Given the description of an element on the screen output the (x, y) to click on. 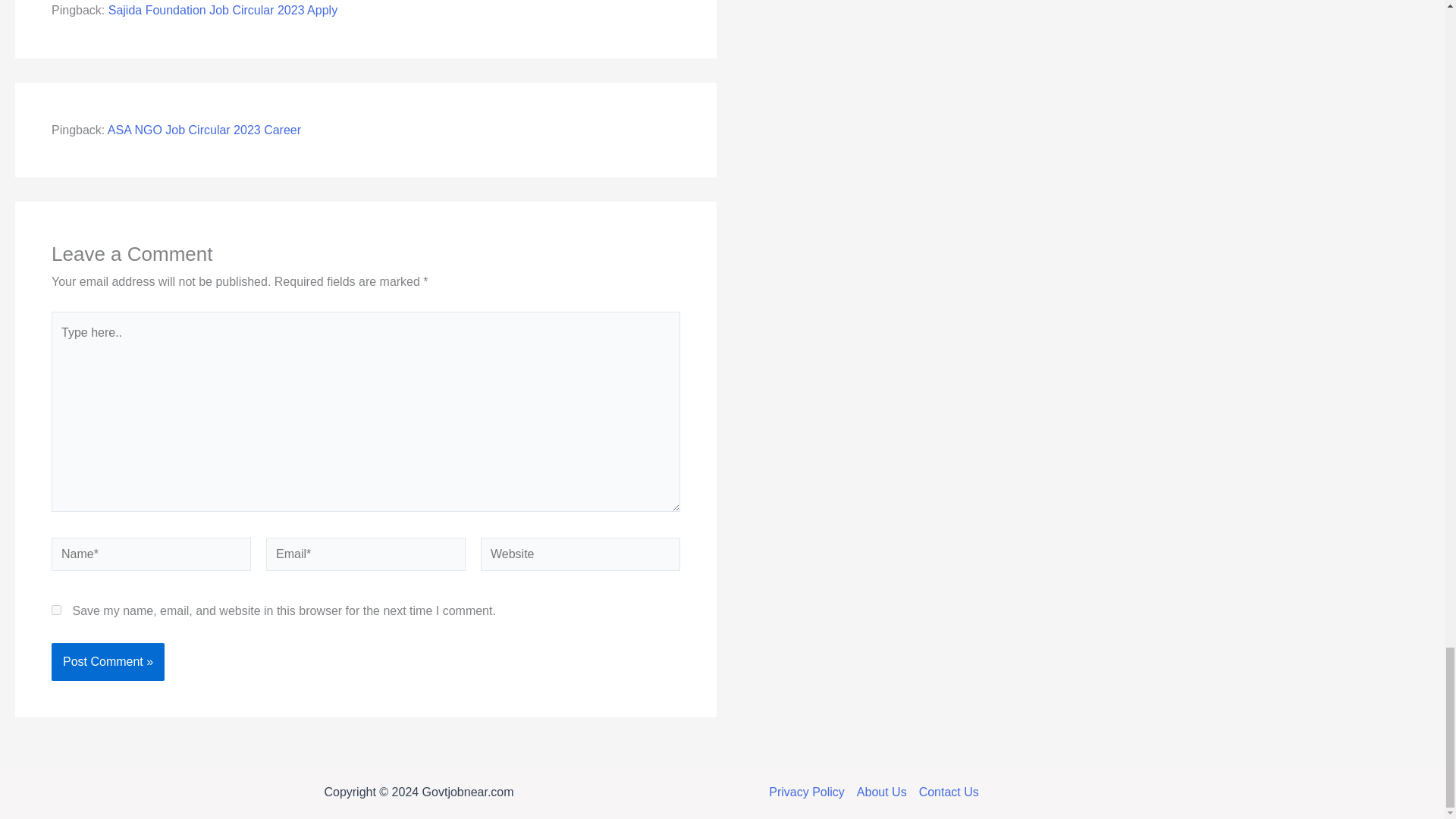
yes (55, 610)
